Given the description of an element on the screen output the (x, y) to click on. 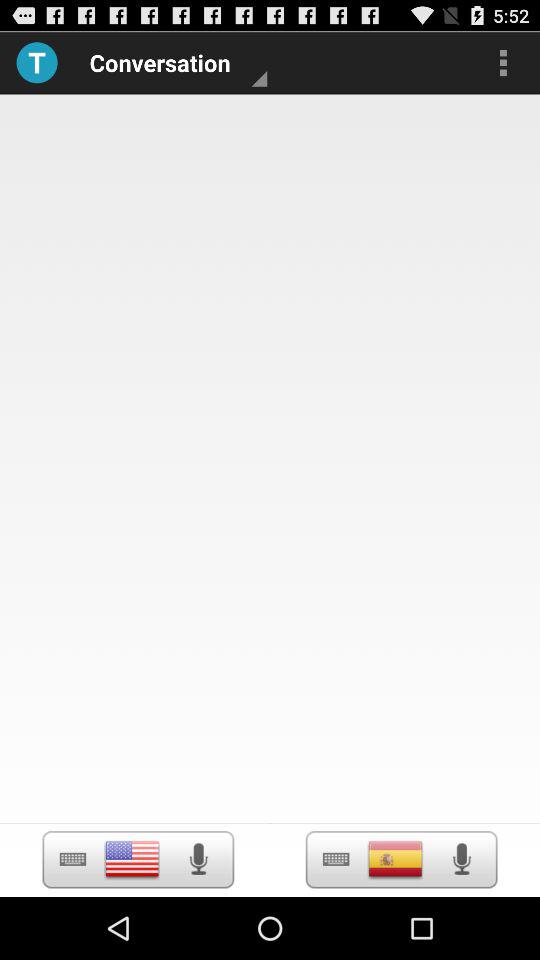
country selection (395, 859)
